Given the description of an element on the screen output the (x, y) to click on. 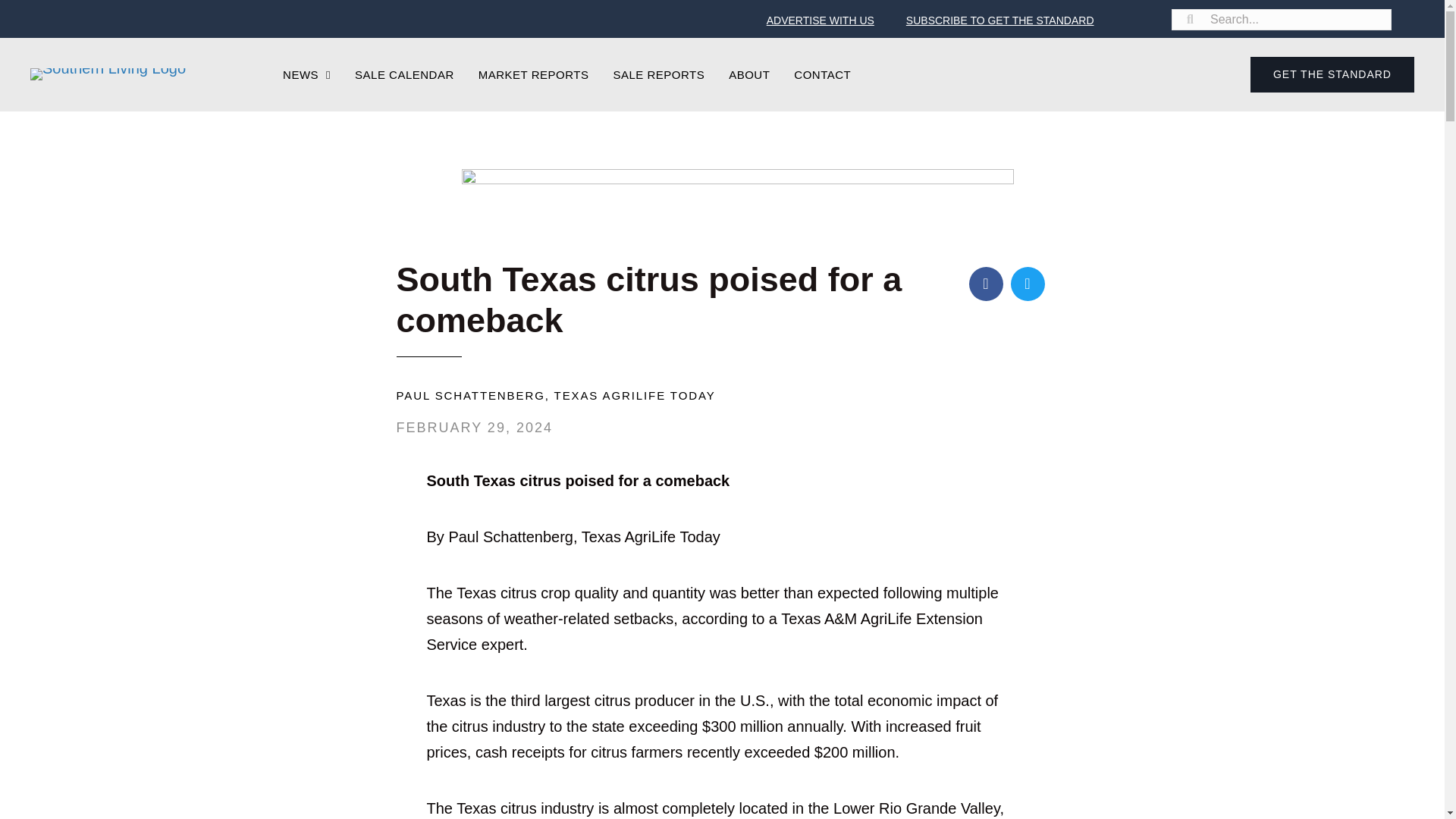
SALE REPORTS (658, 74)
logo (108, 73)
SUBSCRIBE TO GET THE STANDARD (999, 20)
ADVERTISE WITH US (820, 20)
NEWS (306, 74)
ABOUT (748, 74)
GET THE STANDARD (1331, 74)
SALE CALENDAR (404, 74)
CONTACT (822, 74)
MARKET REPORTS (533, 74)
